Given the description of an element on the screen output the (x, y) to click on. 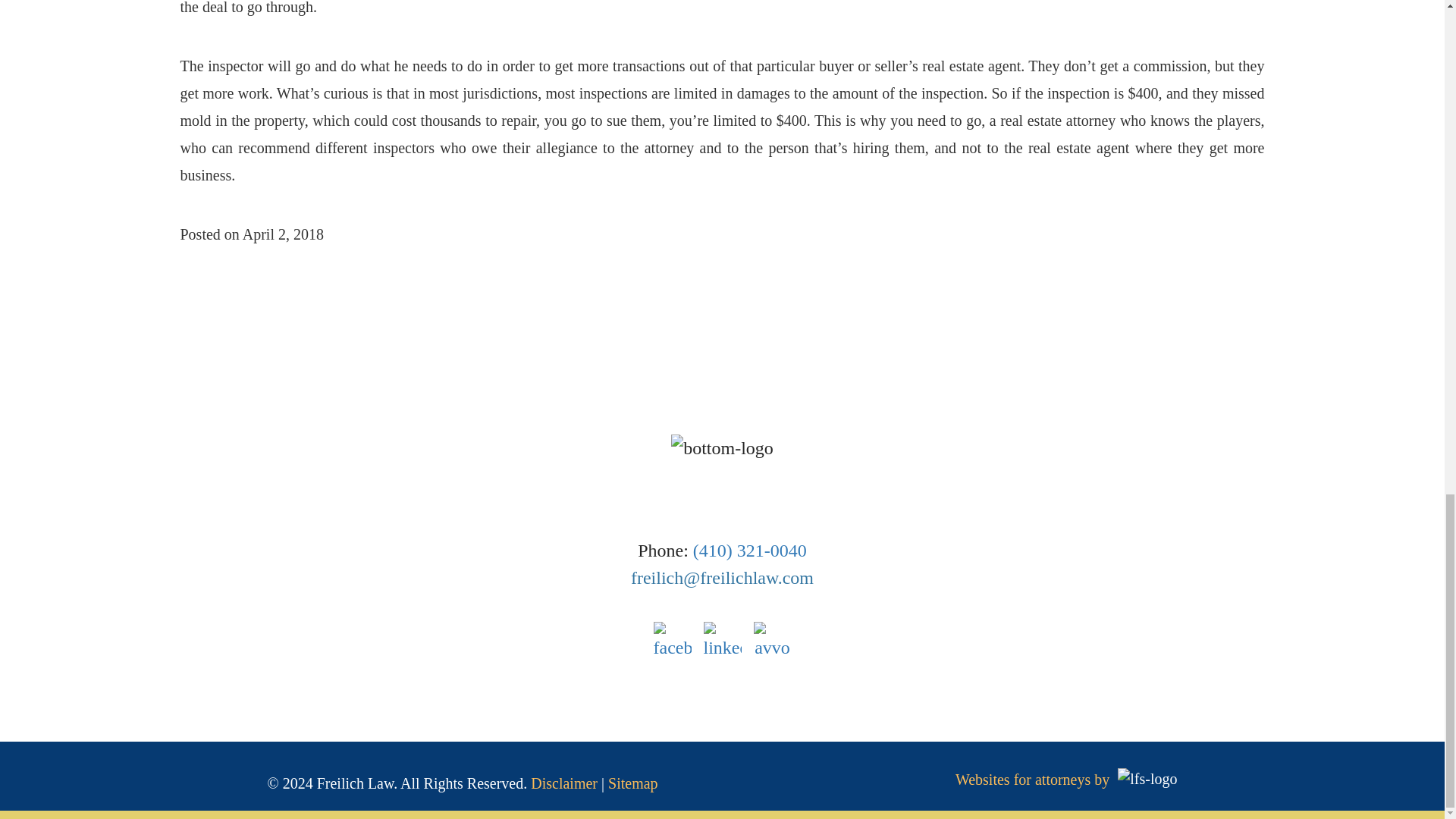
Sitemap (633, 782)
facebook (672, 640)
Websites for attorneys by (1032, 779)
bottom-logo (722, 447)
avvo (773, 640)
Disclaimer (563, 782)
lfs-logo (1147, 779)
linkedin (722, 640)
